Given the description of an element on the screen output the (x, y) to click on. 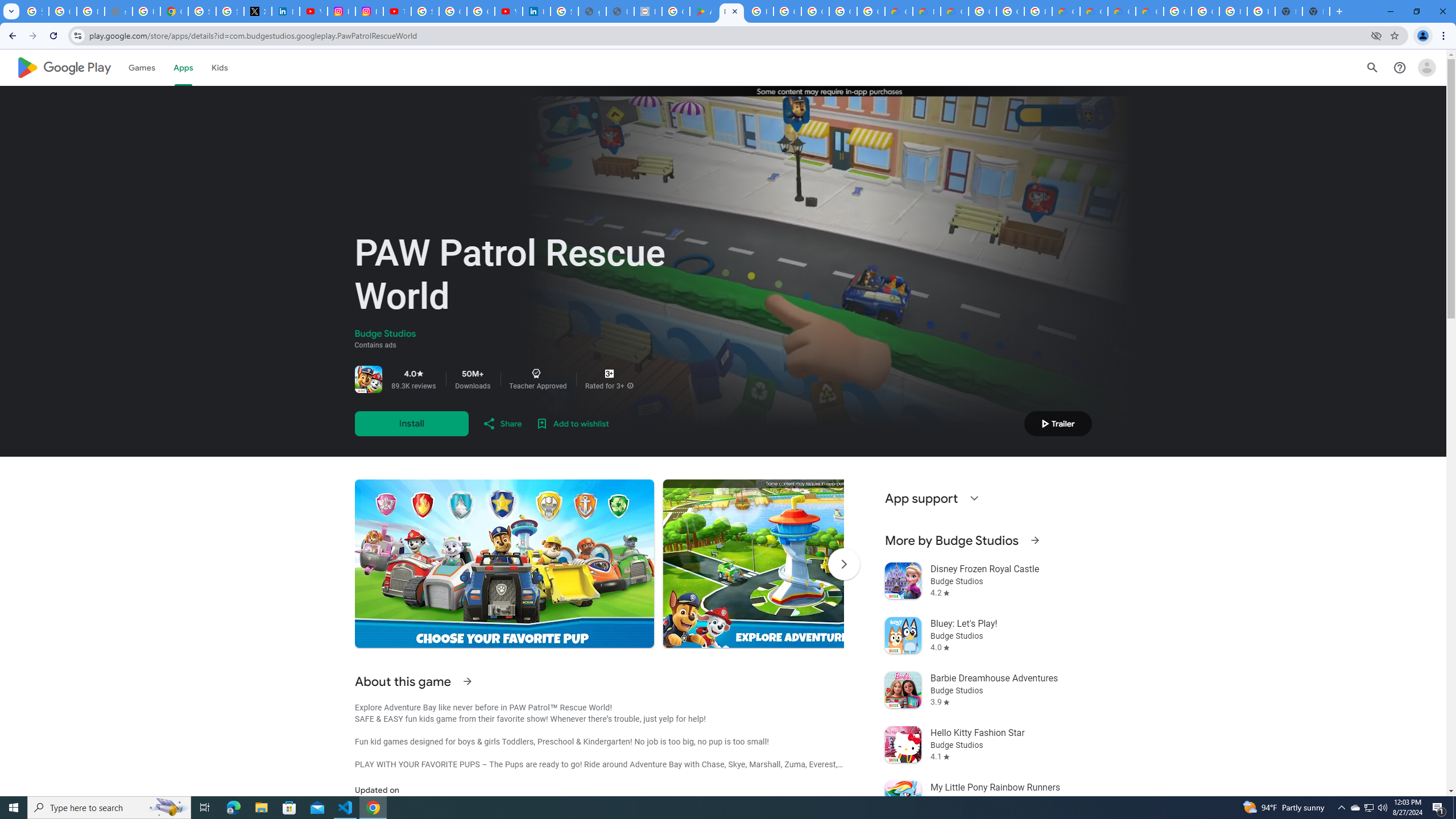
Google Workspace - Specific Terms (842, 11)
Screenshot image (812, 563)
Share (502, 422)
Open account menu (1426, 67)
Google Cloud Pricing Calculator (1121, 11)
Budge Studios (384, 333)
